Given the description of an element on the screen output the (x, y) to click on. 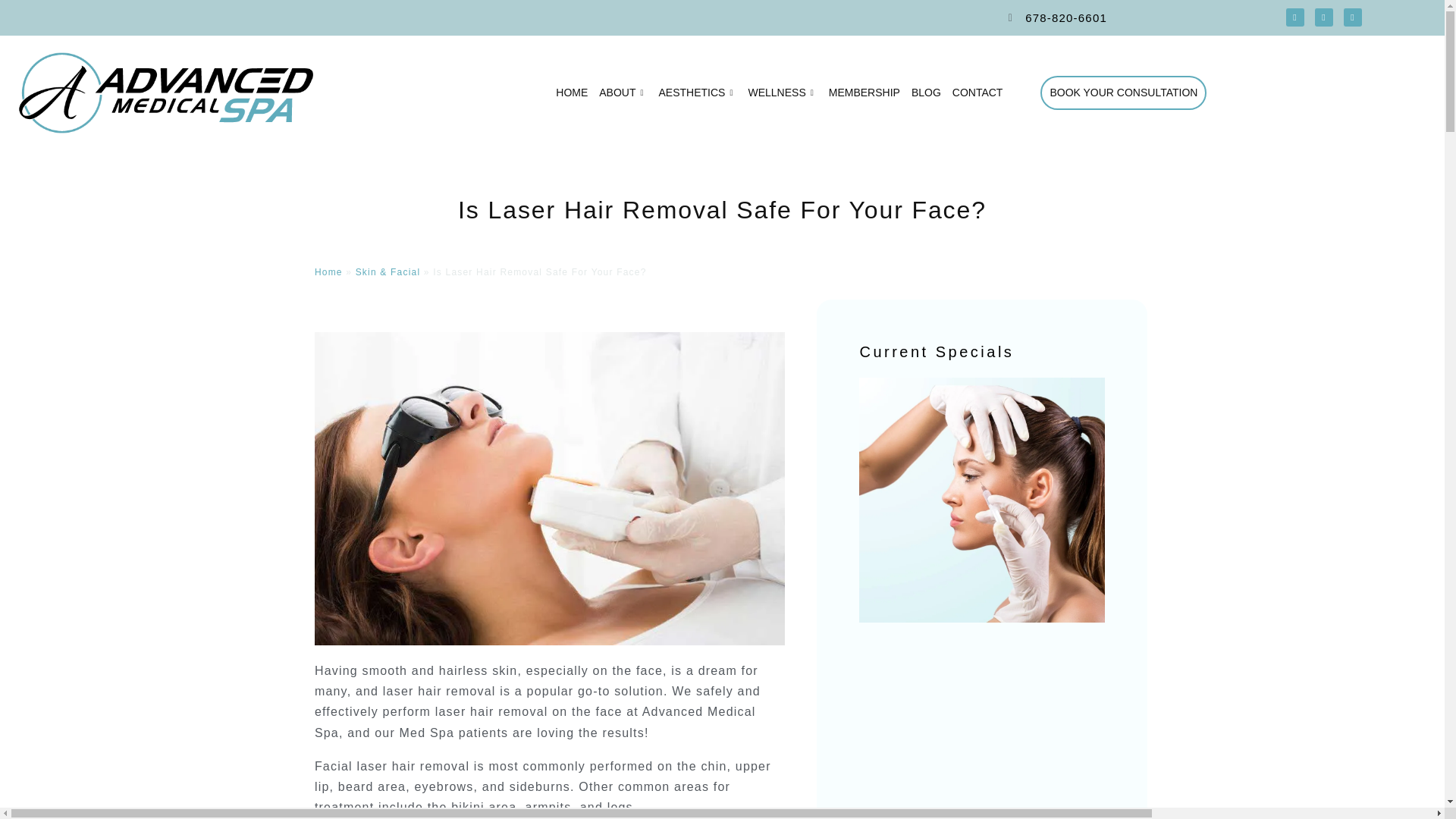
ABOUT (622, 92)
AESTHETICS (697, 92)
678-820-6601 (1065, 17)
HOME (572, 92)
